Given the description of an element on the screen output the (x, y) to click on. 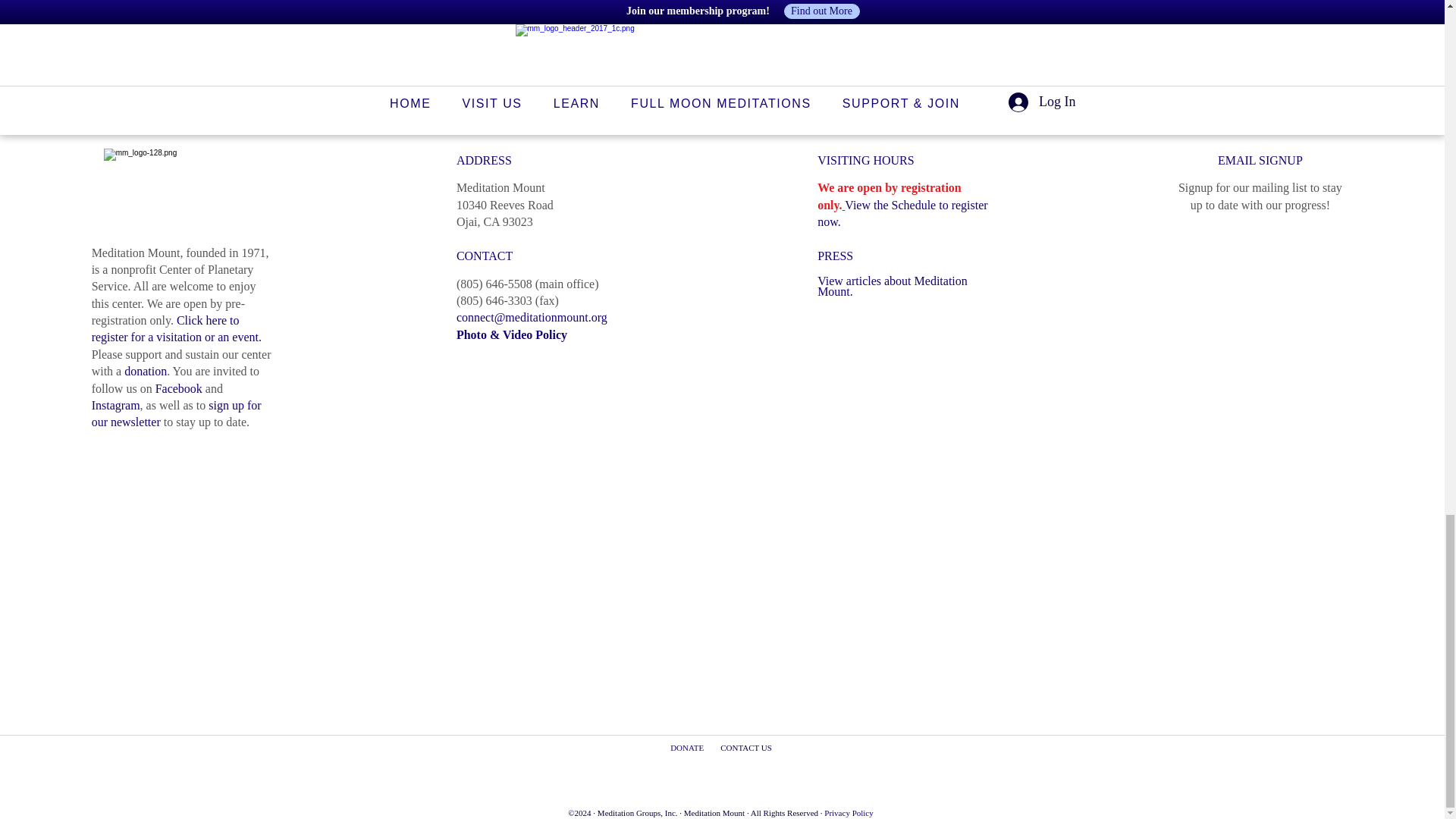
sign up for our newsletter  (176, 413)
Facebook (178, 388)
 View the Schedule to register now. (902, 213)
Instagram (115, 404)
donation (145, 370)
Click here to register for a visitation or an event. (176, 328)
